Given the description of an element on the screen output the (x, y) to click on. 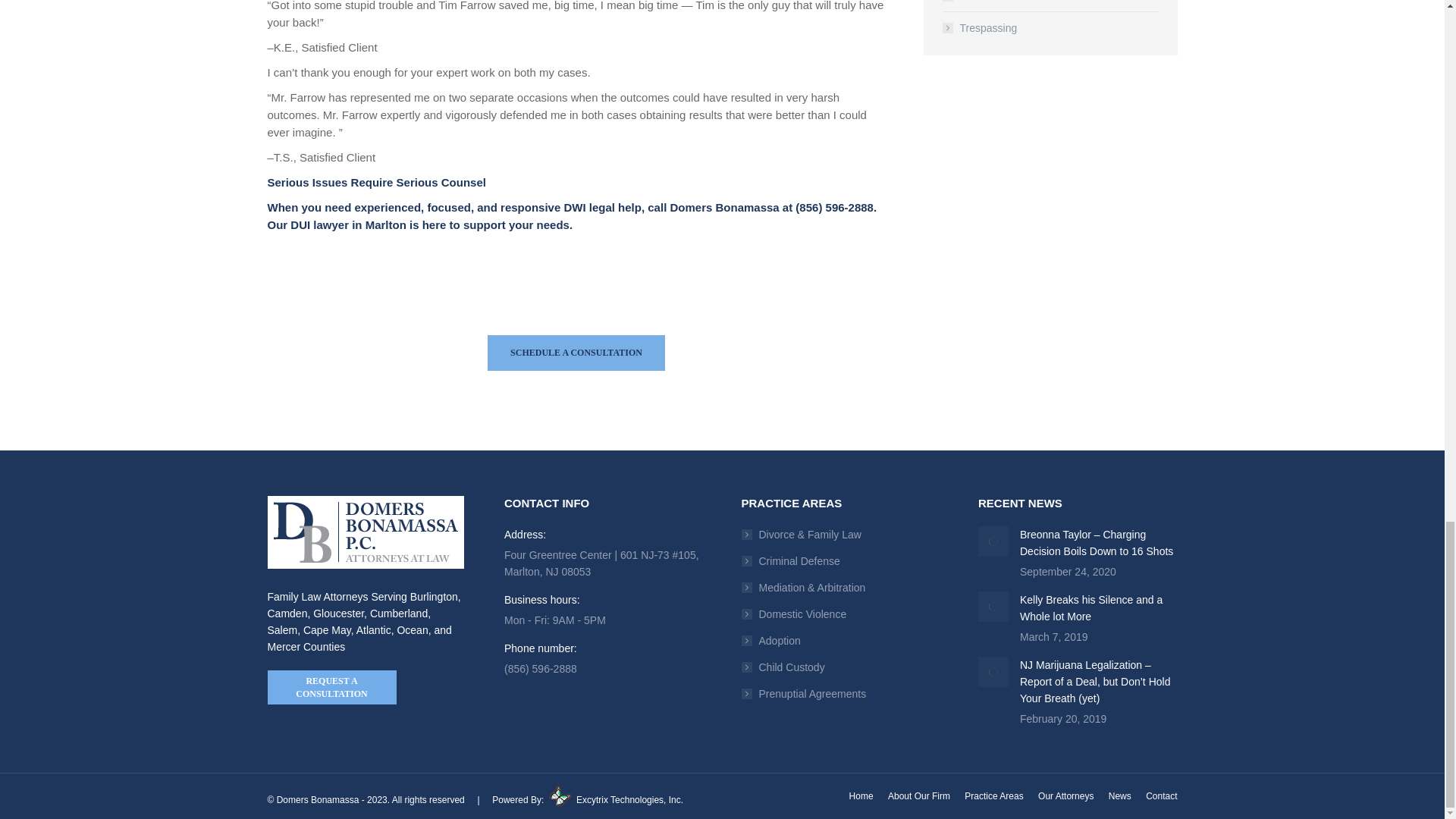
Contact (576, 352)
Contact (331, 687)
